Given the description of an element on the screen output the (x, y) to click on. 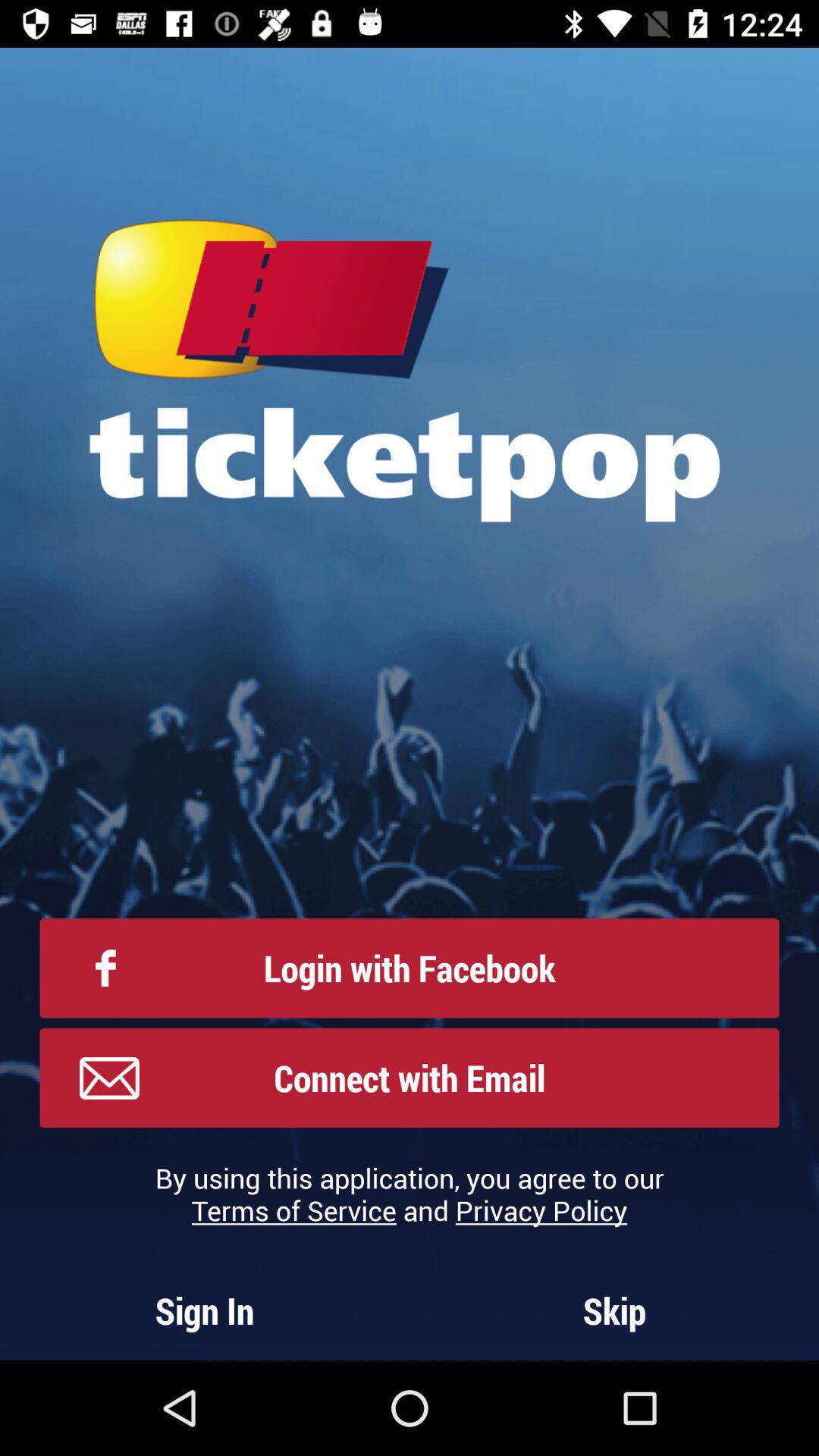
open the icon next to skip icon (204, 1310)
